Given the description of an element on the screen output the (x, y) to click on. 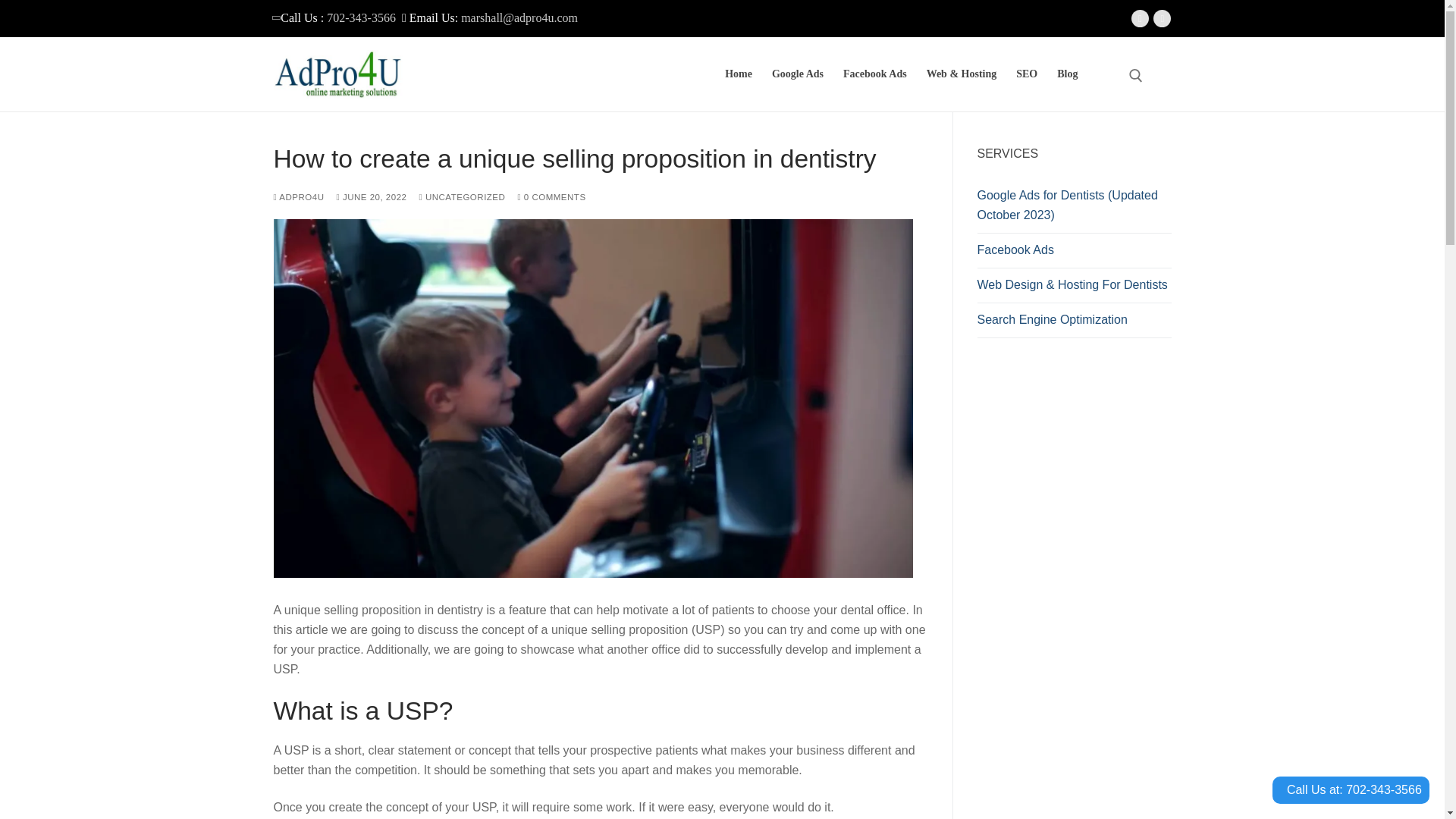
Google Ads (796, 73)
0 COMMENTS (550, 196)
Blog (1066, 73)
JUNE 20, 2022 (371, 196)
702-343-3566 (362, 17)
Twitter (1162, 18)
ADPRO4U (298, 196)
UNCATEGORIZED (462, 196)
Home (737, 73)
SEO (1026, 73)
Facebook Ads (874, 73)
Facebook (1139, 18)
